Given the description of an element on the screen output the (x, y) to click on. 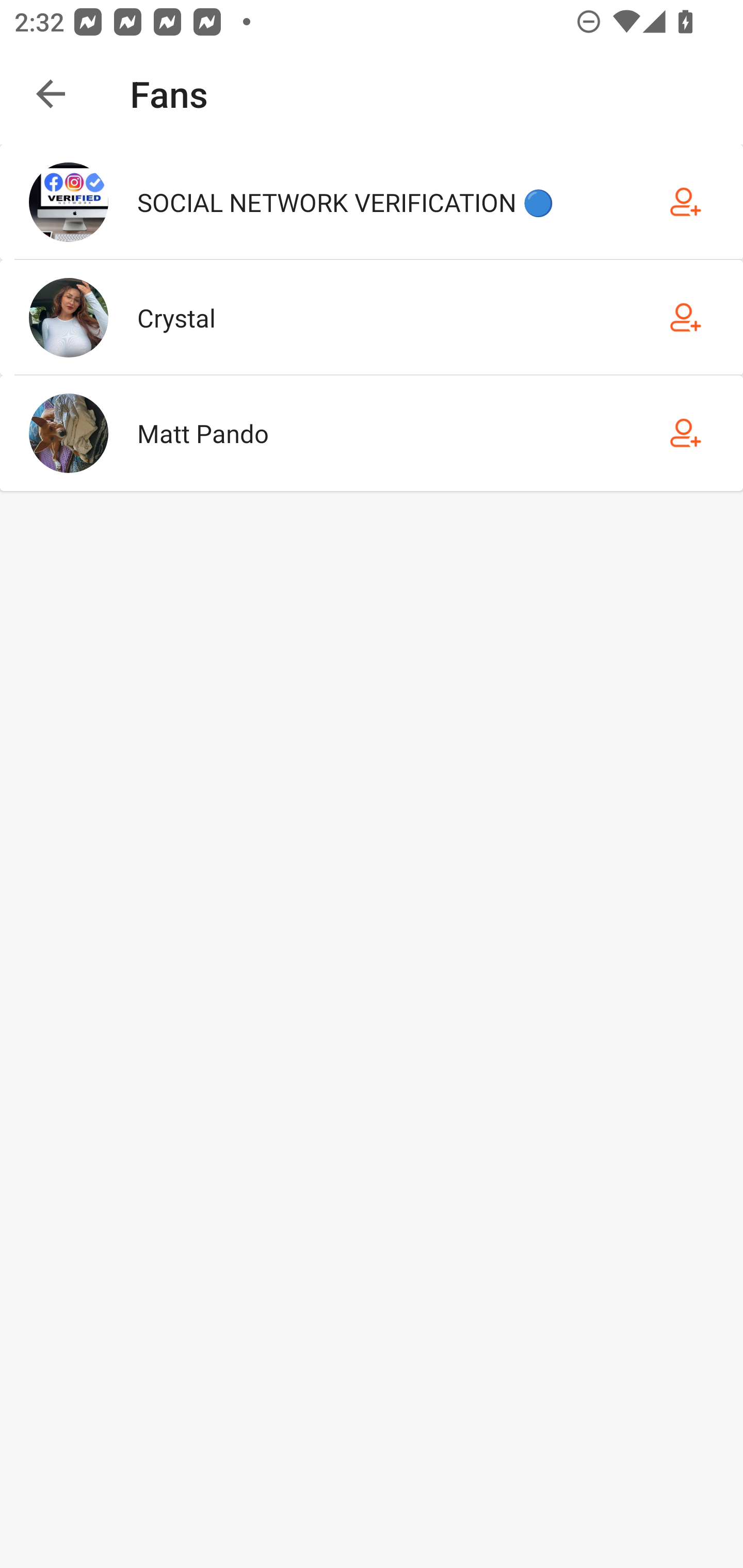
Navigate up (50, 93)
SOCIAL NETWORK VERIFICATION 🔵 (371, 202)
Crystal (371, 317)
Matt Pando (371, 432)
